Given the description of an element on the screen output the (x, y) to click on. 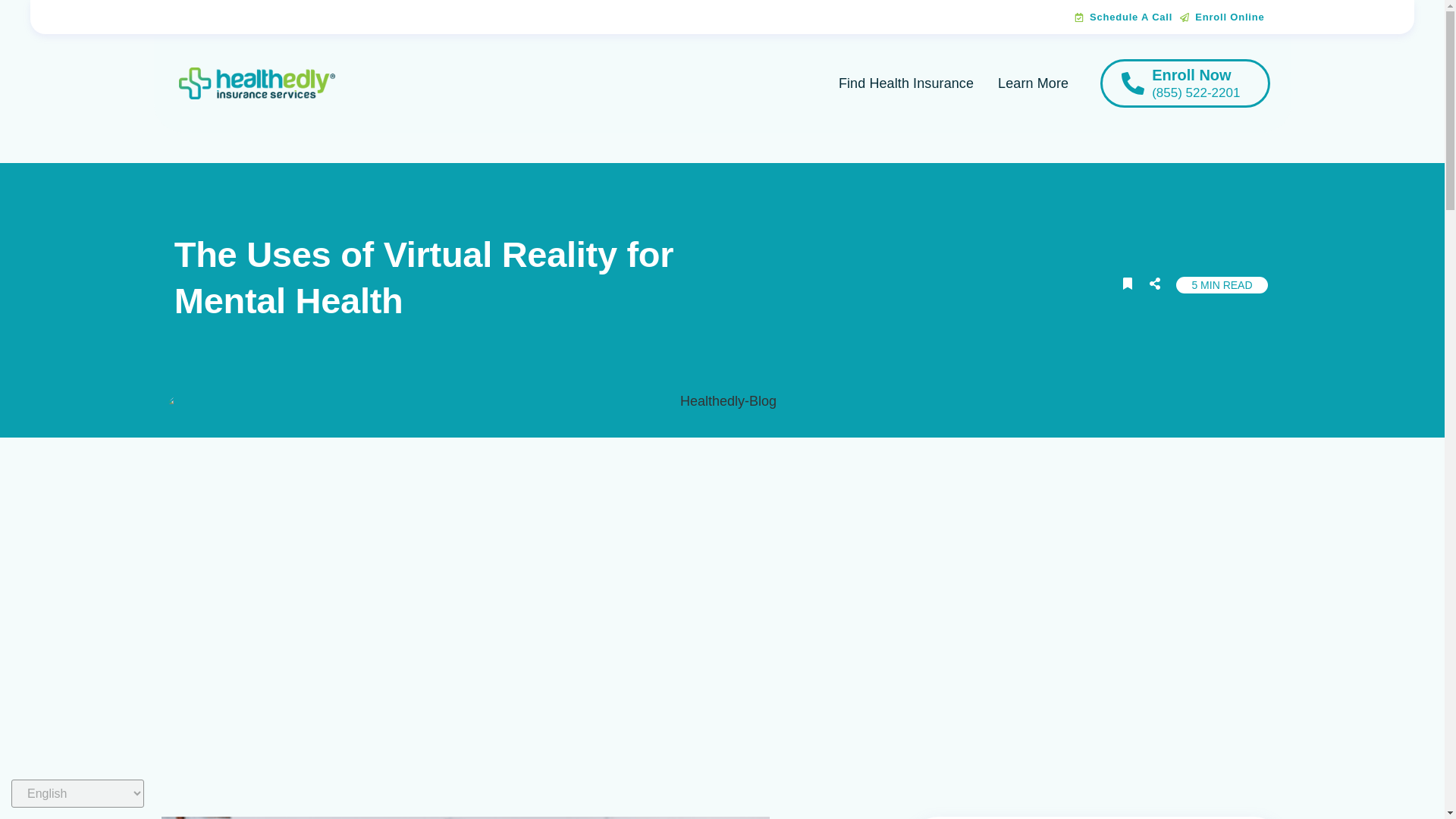
Find Health Insurance (906, 83)
Learn More (1032, 83)
Enroll Now (1190, 74)
